Given the description of an element on the screen output the (x, y) to click on. 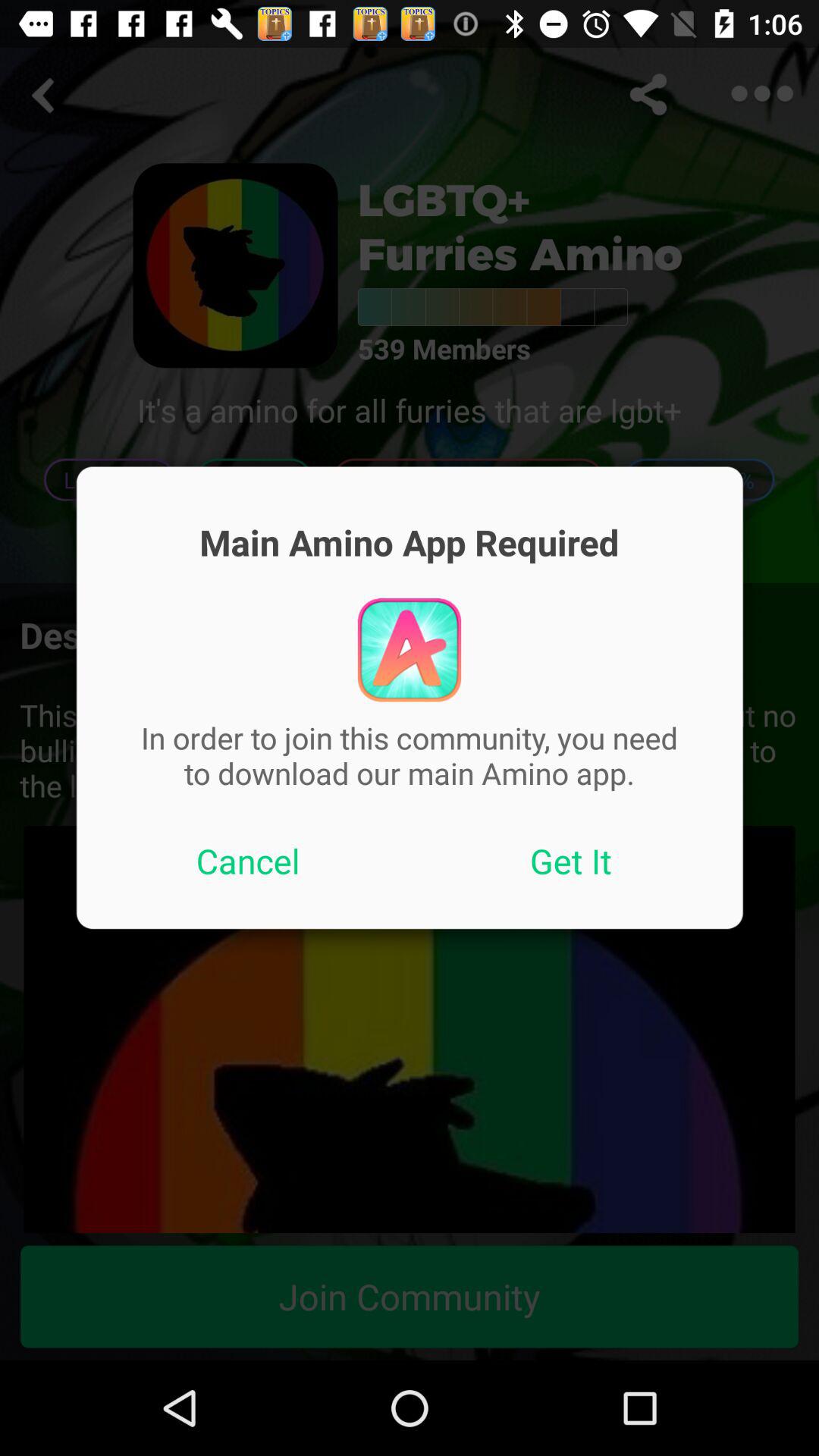
click get it item (570, 860)
